Given the description of an element on the screen output the (x, y) to click on. 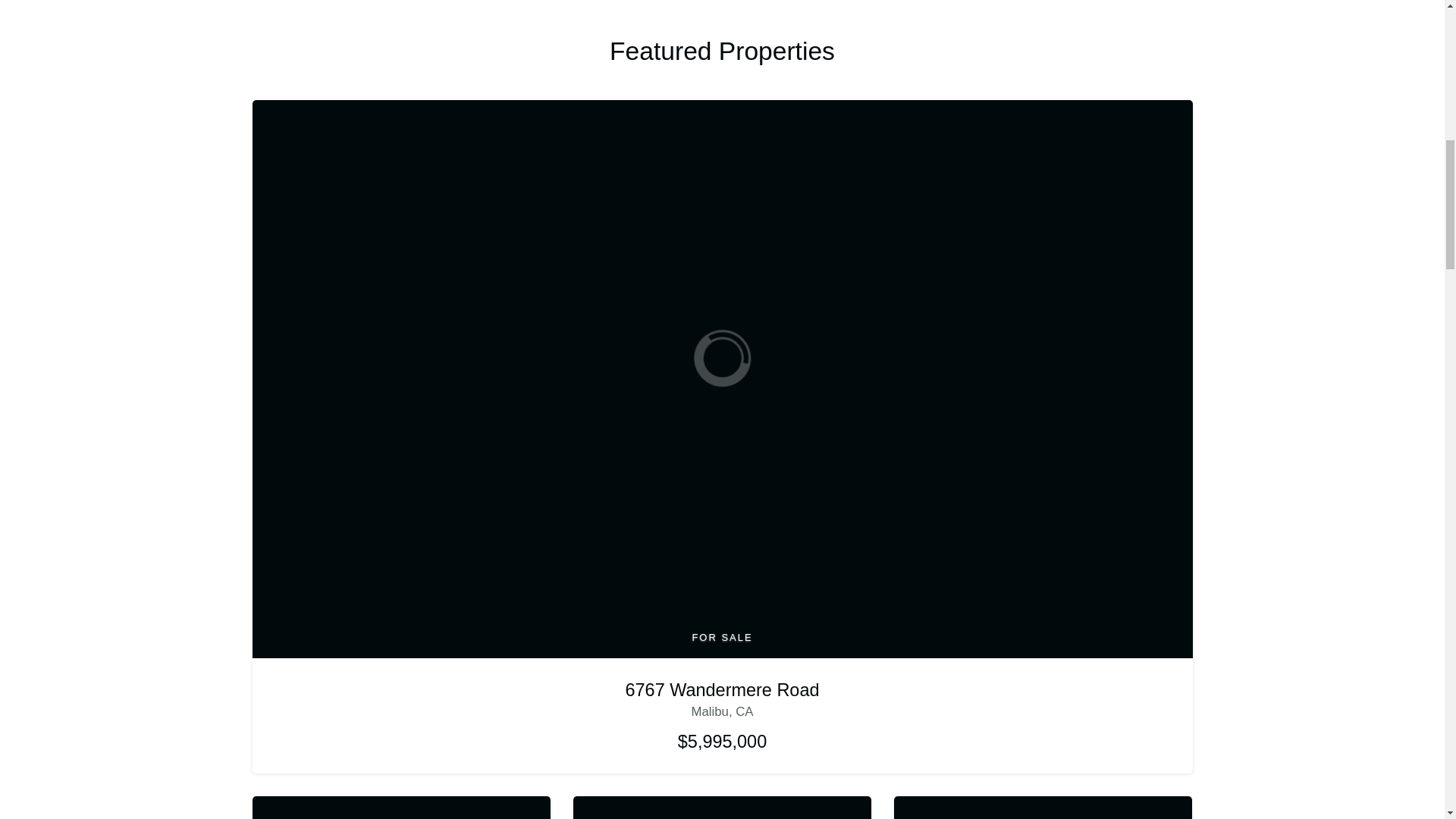
31654 Broad Beach Road, Malibu, CA, 90265 (400, 807)
5092 Latigo Canyon Road, Malibu, CA, 90265 (1042, 807)
6530 Zuma View Pl, Malibu, CA, 90265 (721, 807)
